Given the description of an element on the screen output the (x, y) to click on. 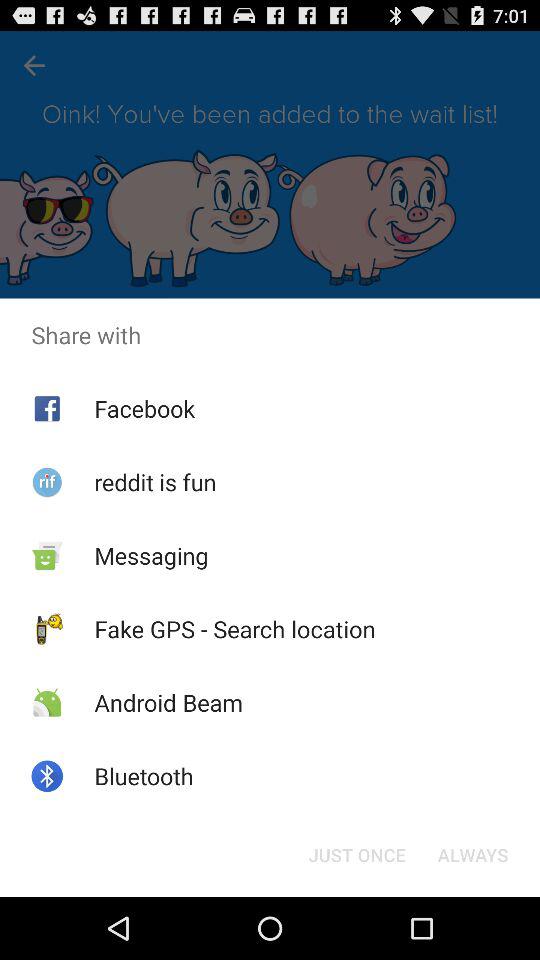
open the app below the fake gps search (168, 702)
